Given the description of an element on the screen output the (x, y) to click on. 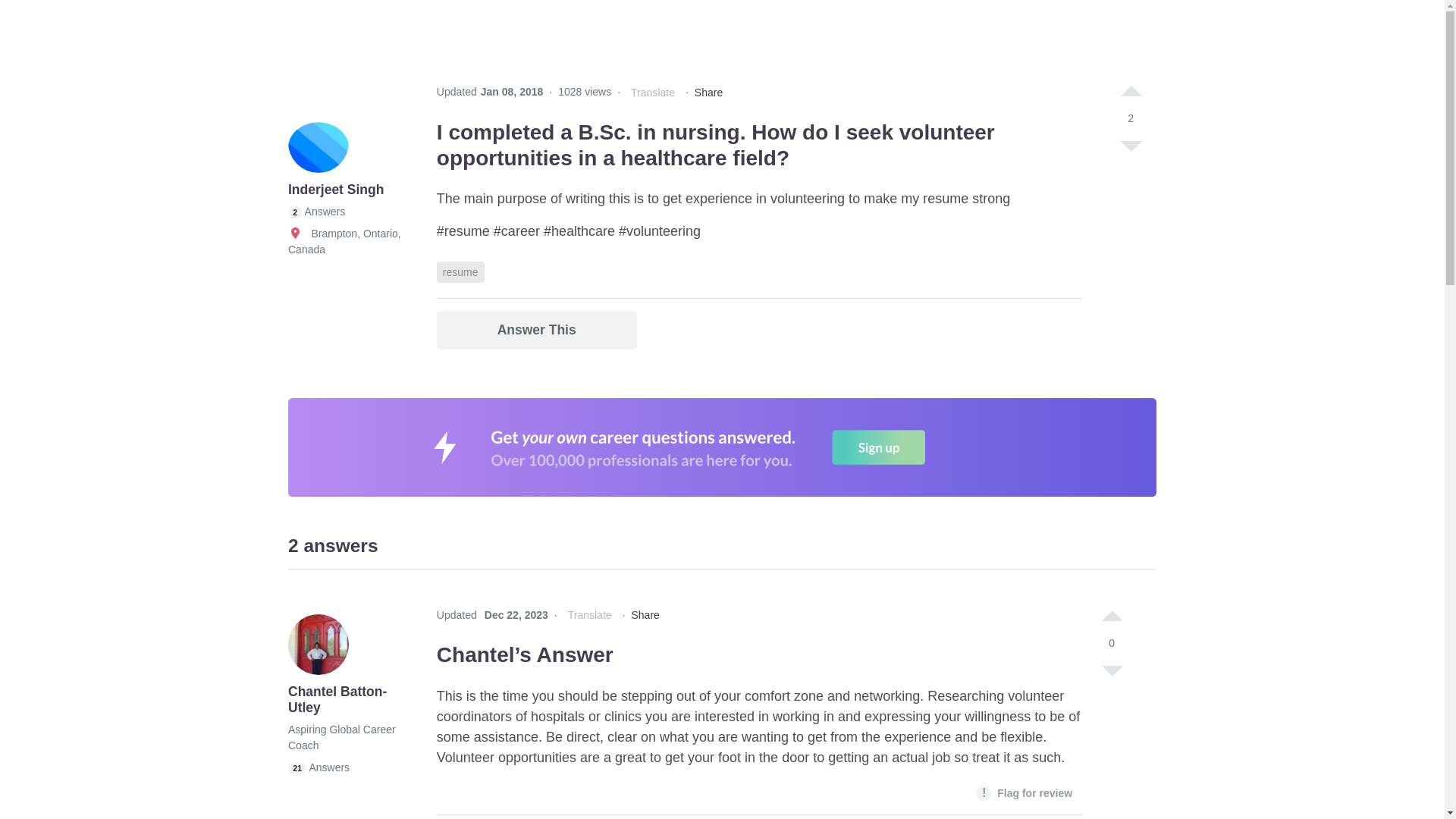
Answer This (536, 330)
Share (708, 92)
Translate (652, 92)
resume (460, 271)
